Given the description of an element on the screen output the (x, y) to click on. 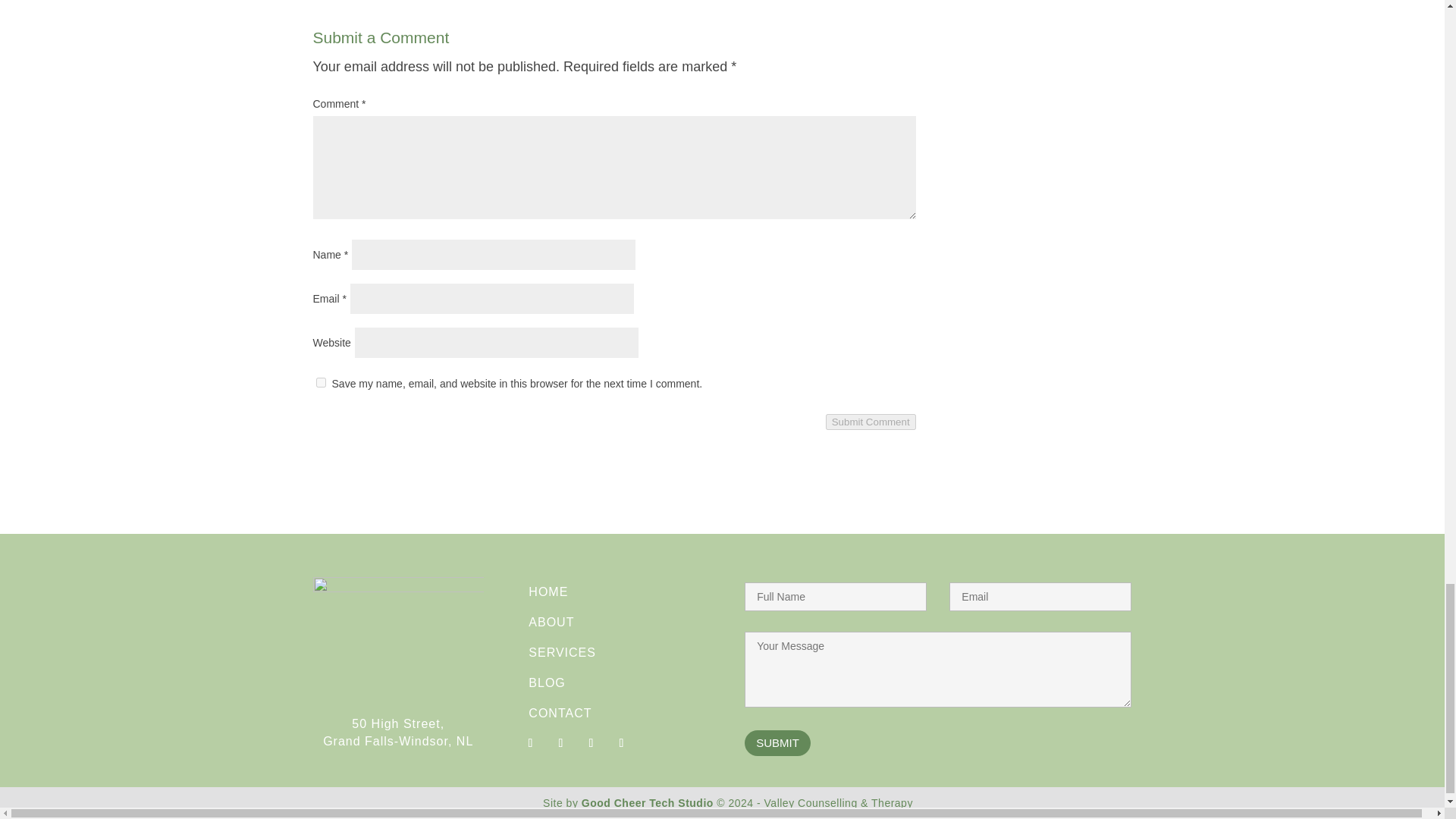
Follow on LinkedIn (620, 743)
Janines logo (398, 635)
Follow on Instagram (560, 743)
Follow on Facebook (529, 743)
SERVICES (561, 652)
BLOG (546, 682)
Follow on X (590, 743)
CONTACT (559, 712)
ABOUT (550, 621)
SUBMIT (777, 743)
